Given the description of an element on the screen output the (x, y) to click on. 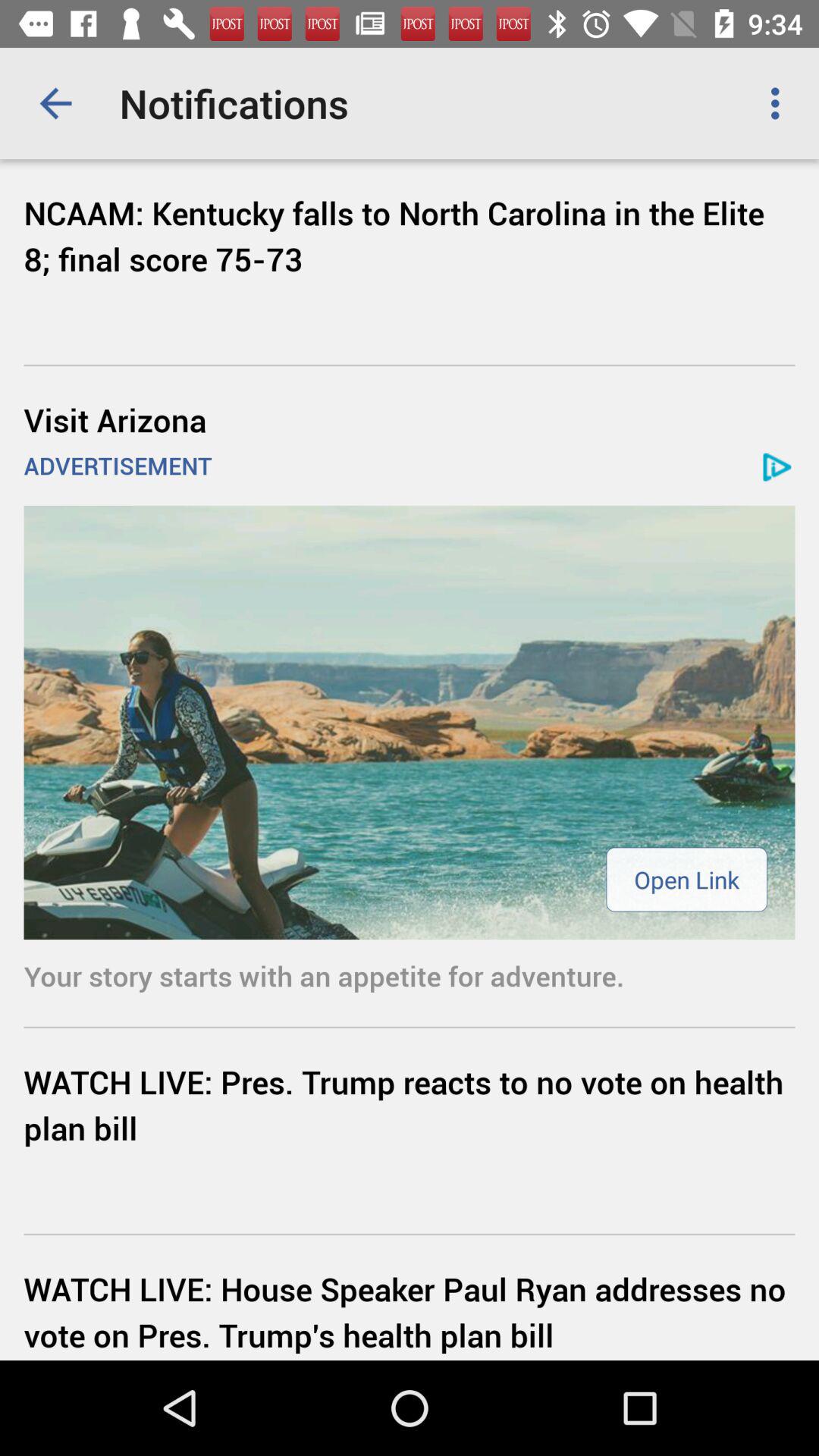
turn off the icon next to notifications (779, 103)
